Given the description of an element on the screen output the (x, y) to click on. 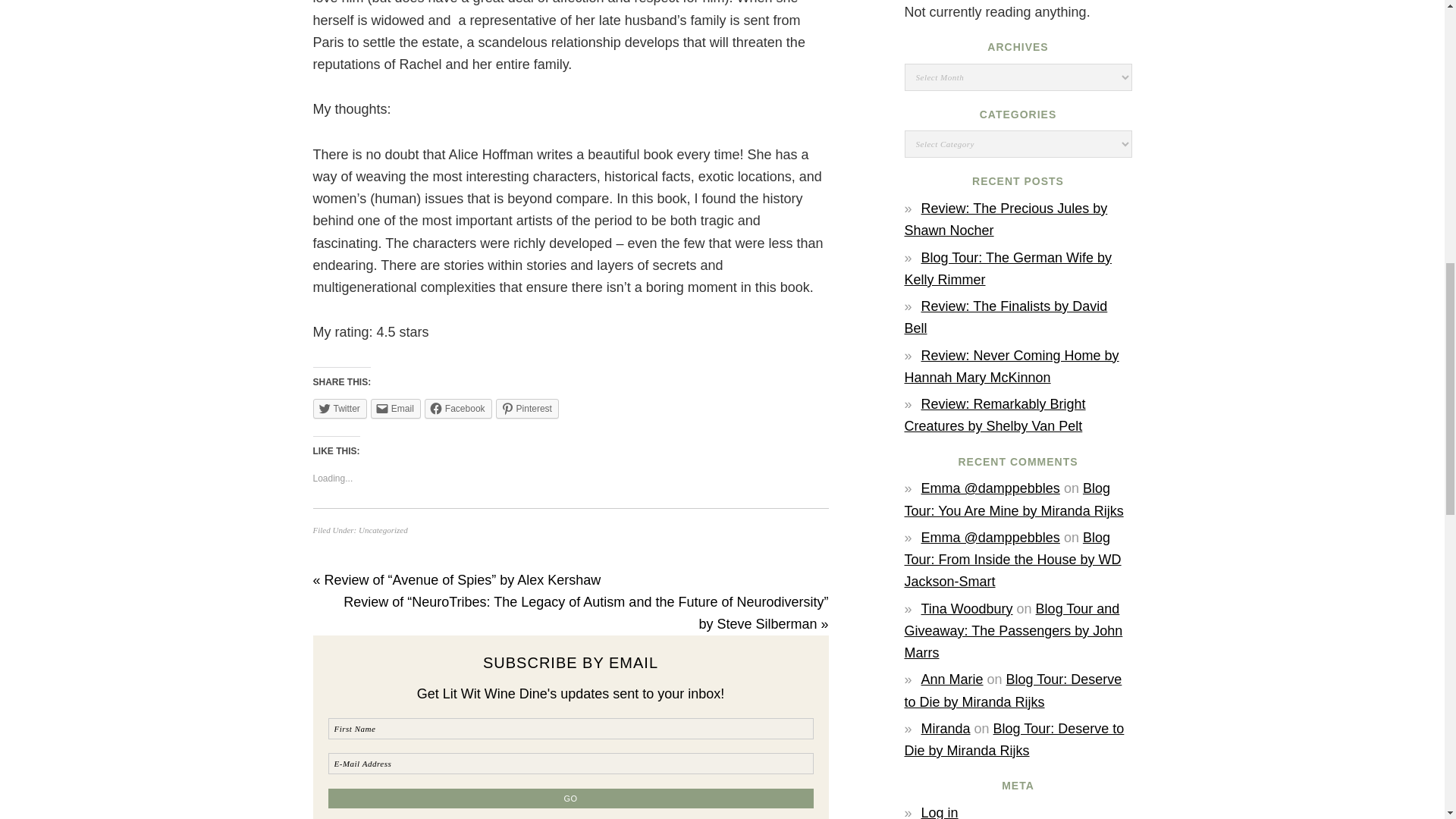
Email (395, 408)
Twitter (339, 408)
Go (569, 798)
Click to share on Pinterest (527, 408)
Click to share on Twitter (339, 408)
Uncategorized (382, 529)
Click to share on Facebook (458, 408)
Facebook (458, 408)
Click to email a link to a friend (395, 408)
Go (569, 798)
